Given the description of an element on the screen output the (x, y) to click on. 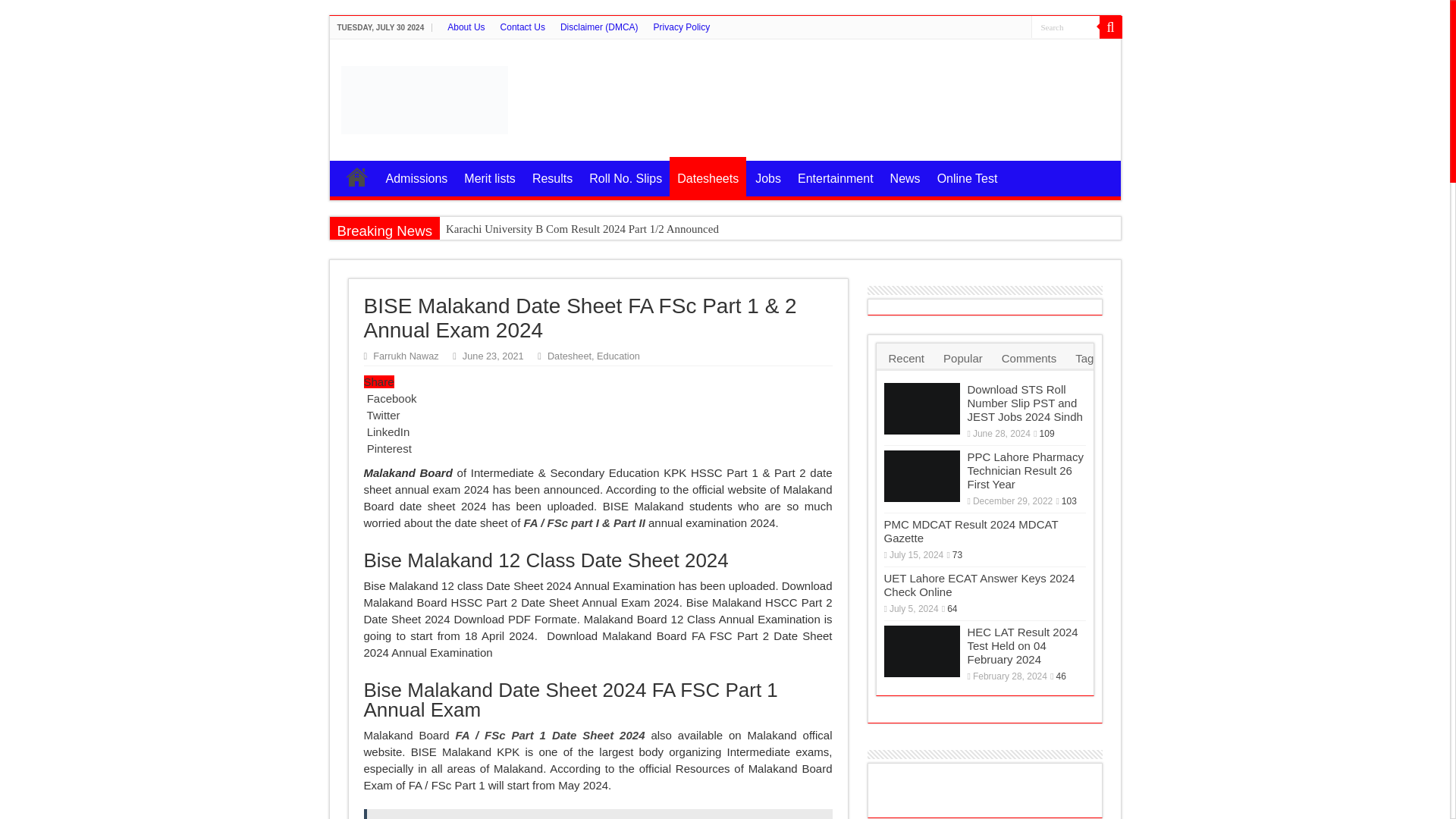
Admissions (416, 176)
Roll No. Slips (624, 176)
Datesheets (707, 176)
Search (1064, 26)
Pinterest (388, 448)
Contact Us (523, 26)
Entertainment (834, 176)
News (905, 176)
Merit lists (488, 176)
LinkedIn (387, 431)
Search (1064, 26)
Home (355, 176)
About Us (465, 26)
Datesheet (569, 355)
Farrukh Nawaz (405, 355)
